Given the description of an element on the screen output the (x, y) to click on. 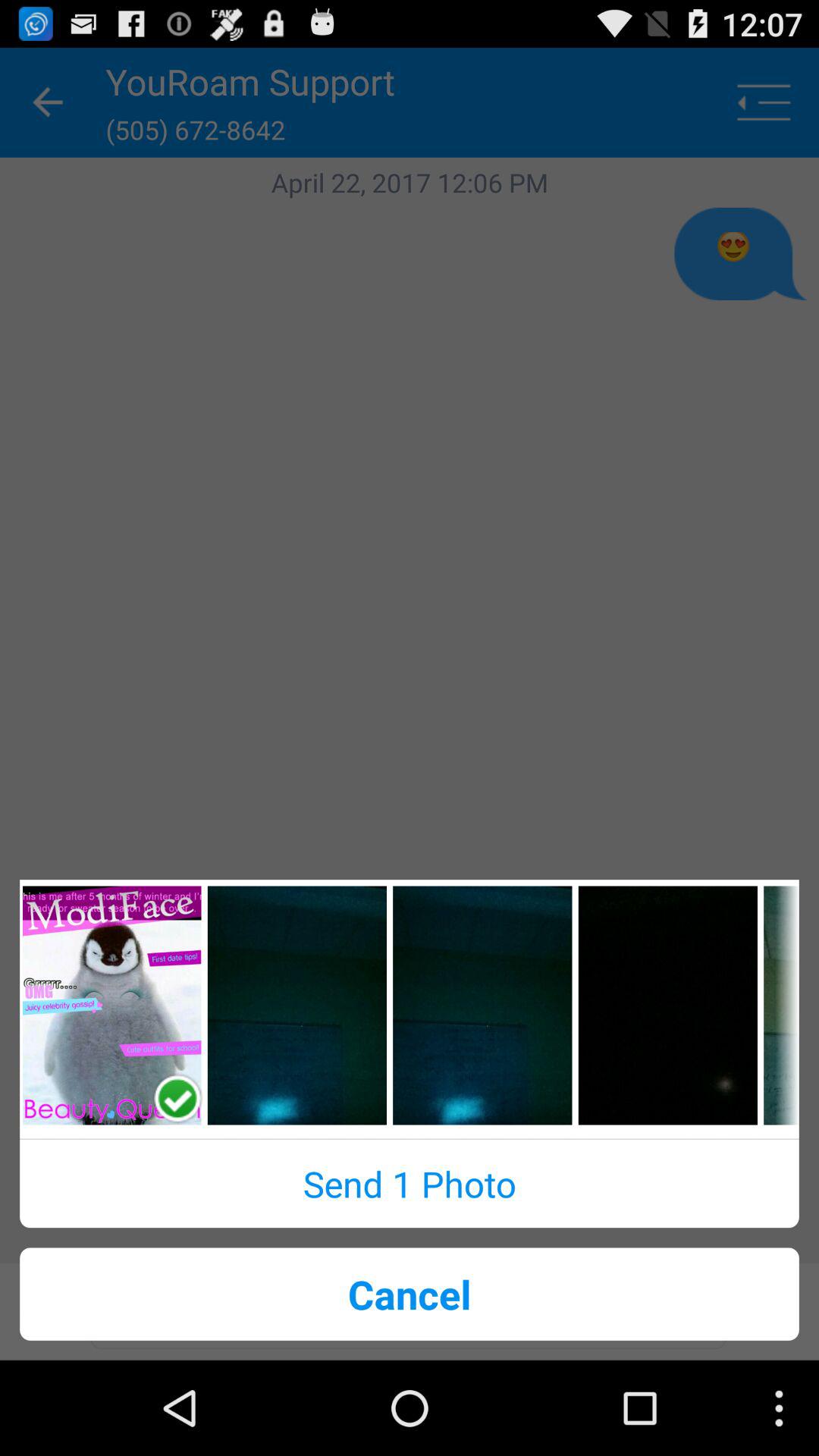
select photo (667, 1005)
